Given the description of an element on the screen output the (x, y) to click on. 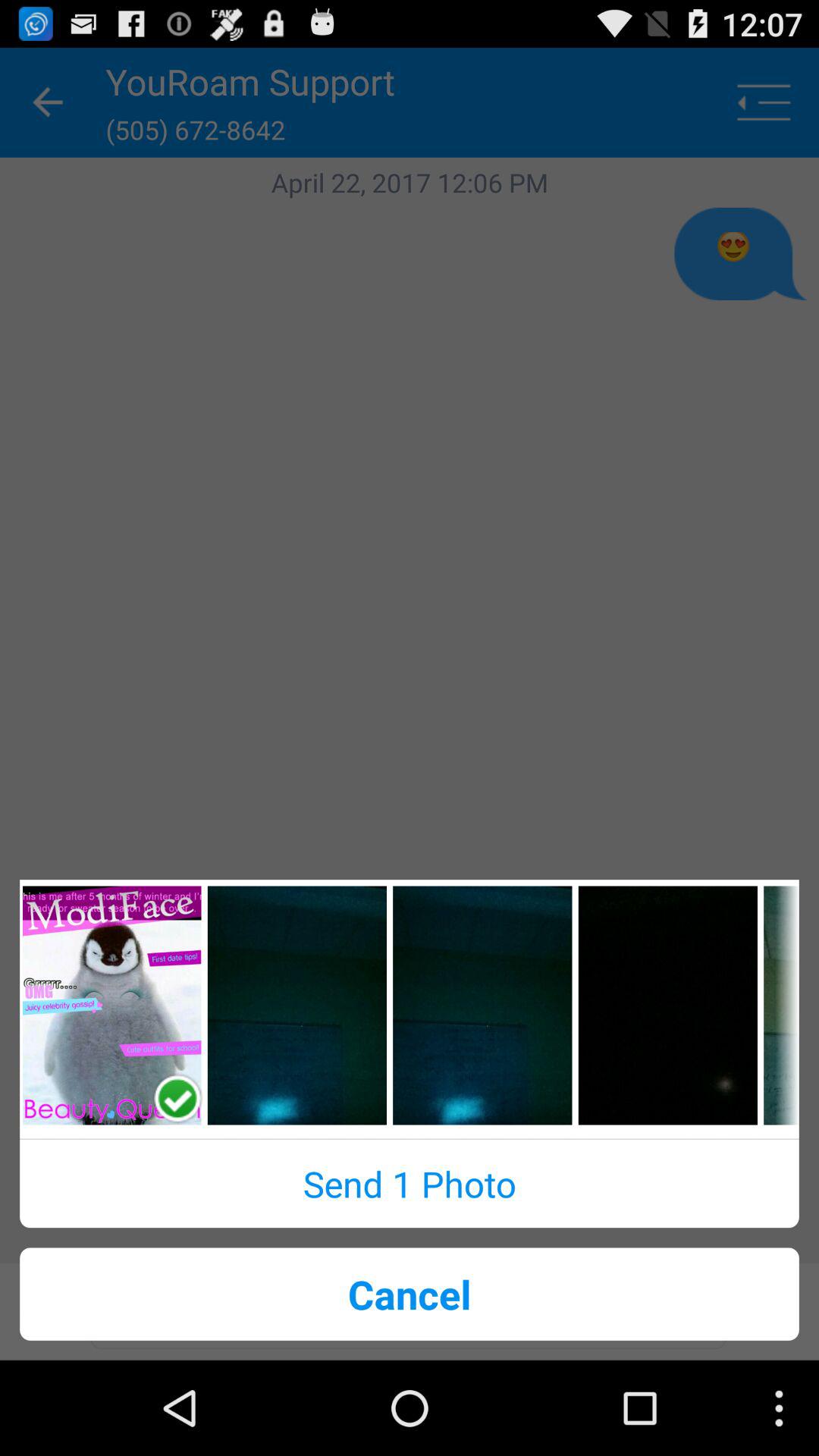
select photo (667, 1005)
